Given the description of an element on the screen output the (x, y) to click on. 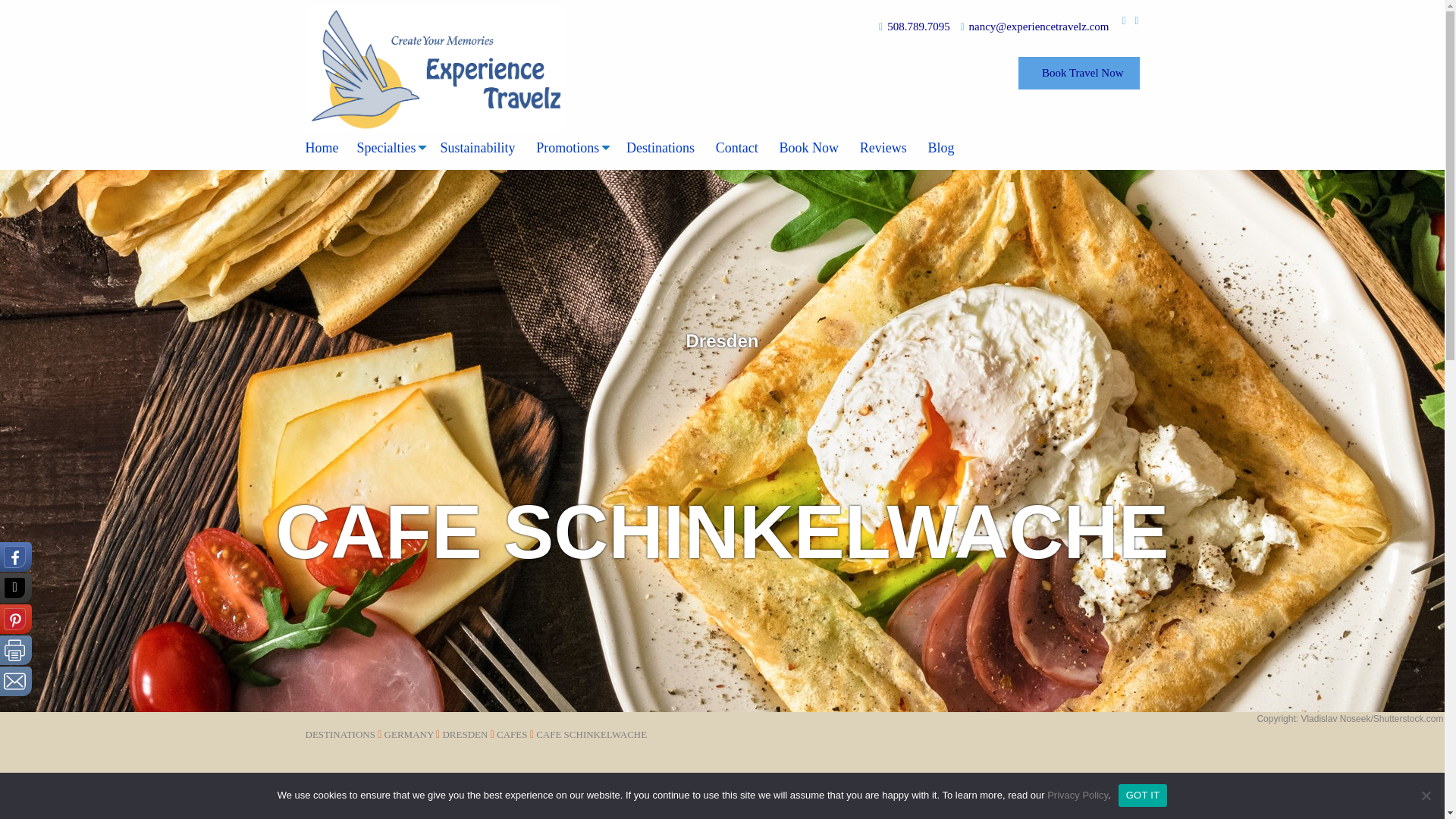
Specialties (388, 147)
Home (325, 147)
Experience Travelz (433, 68)
Book Travel Now (1077, 72)
508.789.7095 (918, 26)
No (1425, 795)
